Given the description of an element on the screen output the (x, y) to click on. 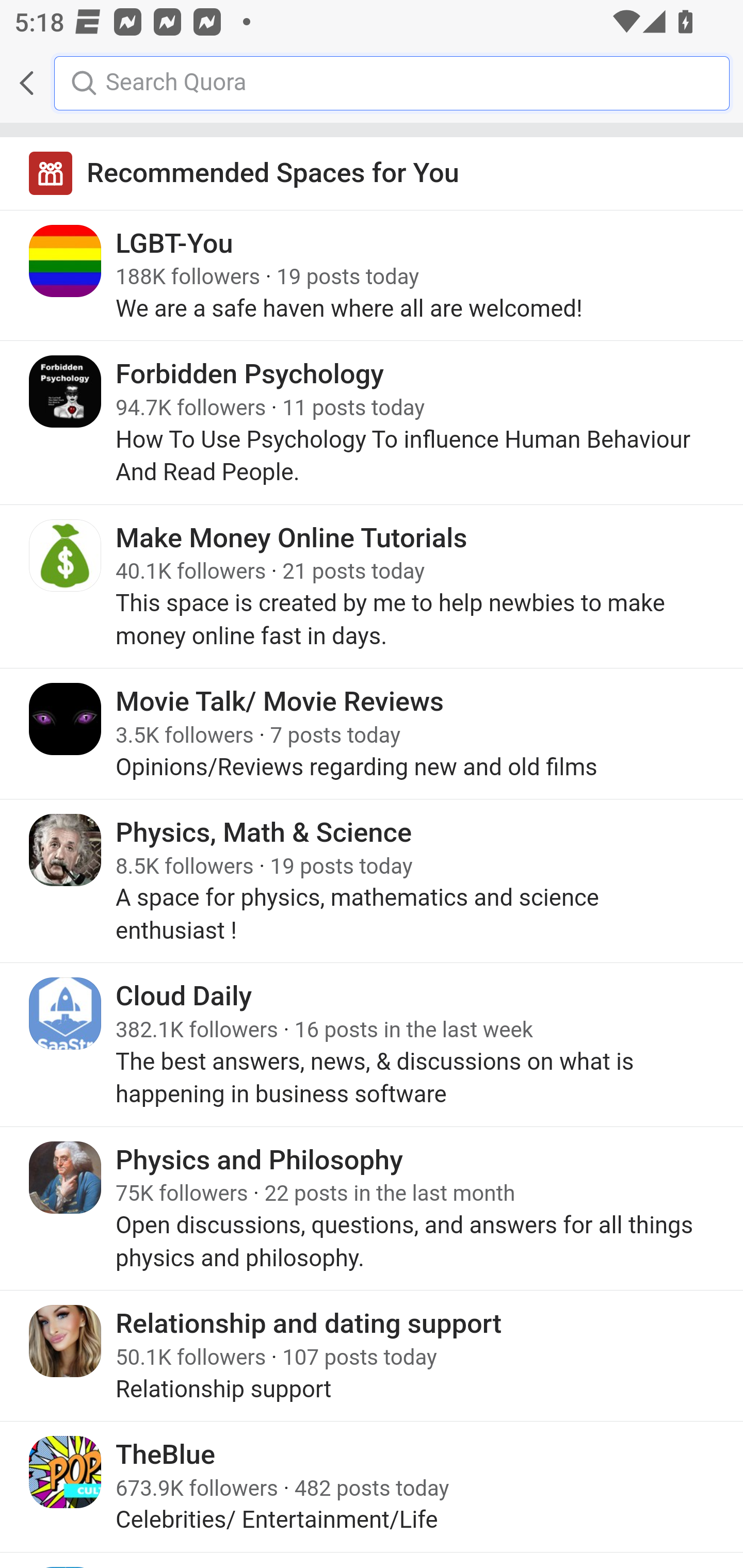
Me (64, 83)
Icon for LGBT-You (65, 260)
Icon for Forbidden Psychology (65, 391)
Icon for Make Money Online Tutorials (65, 554)
Icon for Movie Talk/ Movie Reviews (65, 718)
Icon for Physics, Math & Science (65, 849)
Icon for Cloud Daily (65, 1013)
Icon for Physics and Philosophy (65, 1178)
Icon for Relationship and dating support (65, 1341)
Icon for TheBlue (65, 1471)
